Given the description of an element on the screen output the (x, y) to click on. 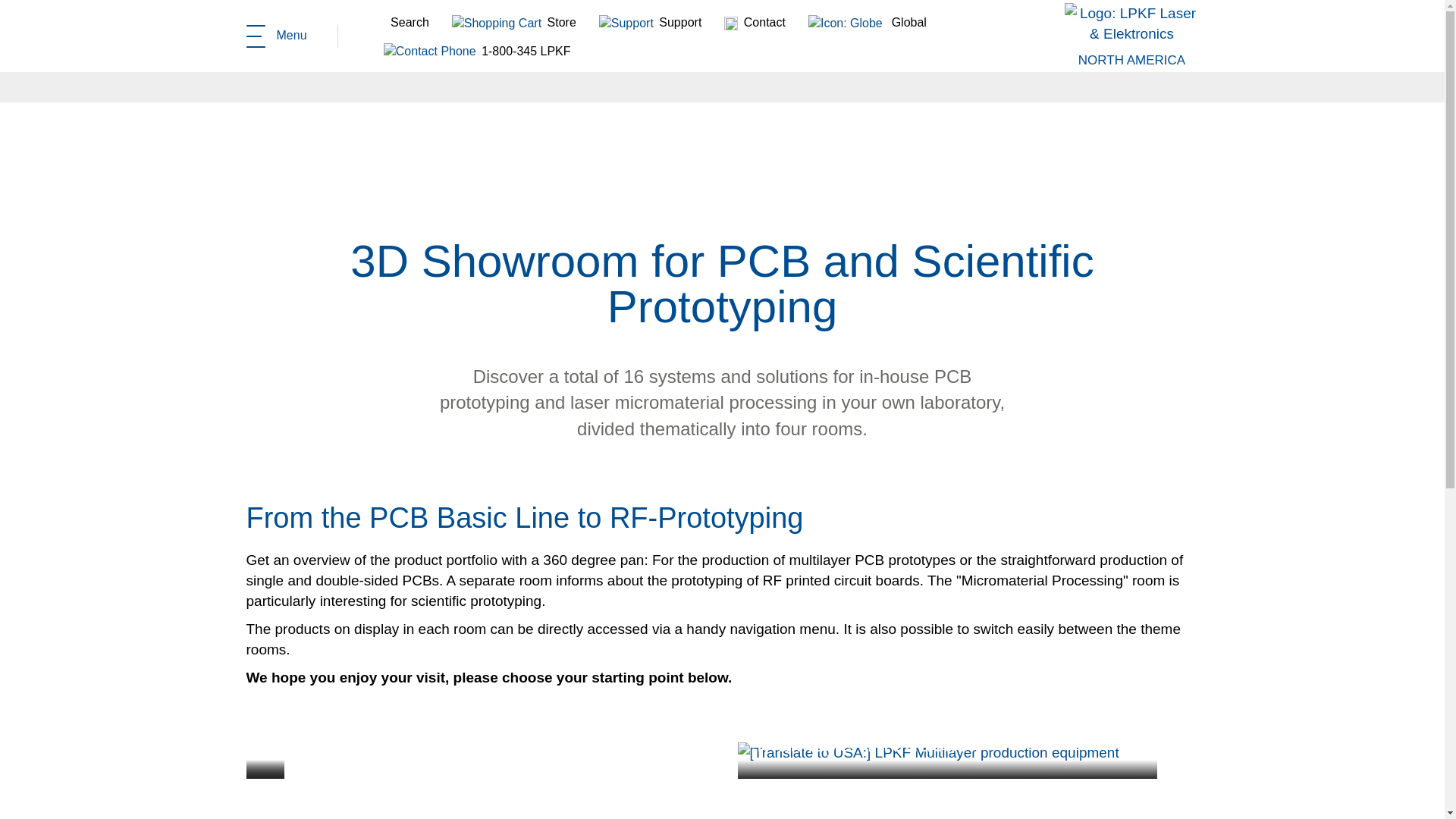
LPKF North America (1131, 59)
 Contact Phone (430, 51)
 Shopping Cart (496, 23)
 Contact Phone (477, 50)
PCB Multilayer Production (927, 752)
 Shopping Cart (513, 21)
Contact LPKF (275, 35)
